Given the description of an element on the screen output the (x, y) to click on. 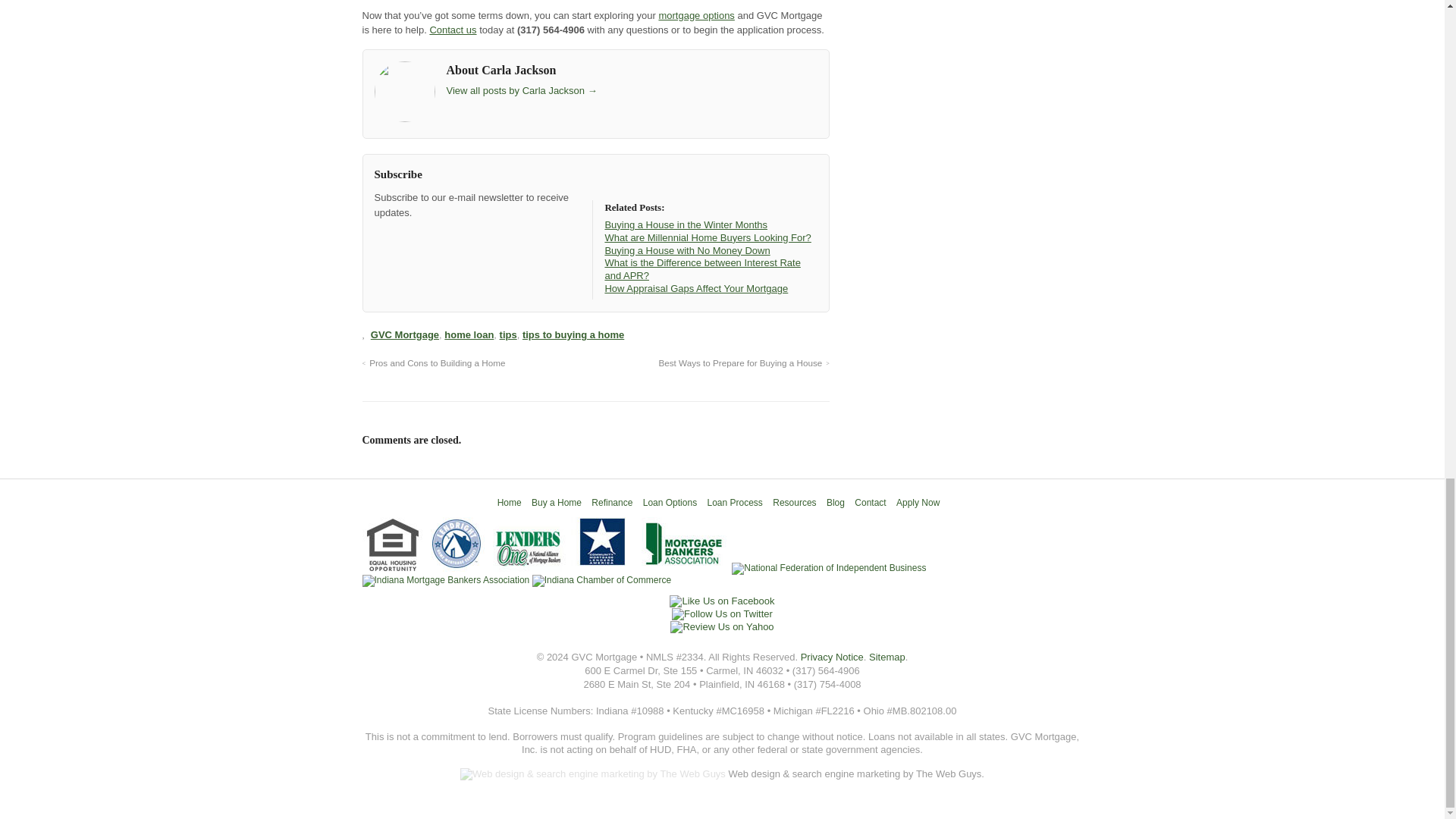
Pros and Cons to Building a Home (433, 362)
Buying a House in the Winter Months (685, 224)
What are Millennial Home Buyers Looking For? (707, 237)
RSS (385, 240)
Best Ways to Prepare for Buying a House (743, 362)
What are Millennial Home Buyers Looking For? (707, 237)
Buying a House with No Money Down (687, 250)
home loan (468, 334)
mortgage options (695, 15)
Buying a House with No Money Down (687, 250)
GVC Mortgage (405, 334)
tips (507, 334)
Buying a House in the Winter Months (685, 224)
tips to buying a home (573, 334)
Indiana Mortgage and Home Loan Refinancing (509, 502)
